Given the description of an element on the screen output the (x, y) to click on. 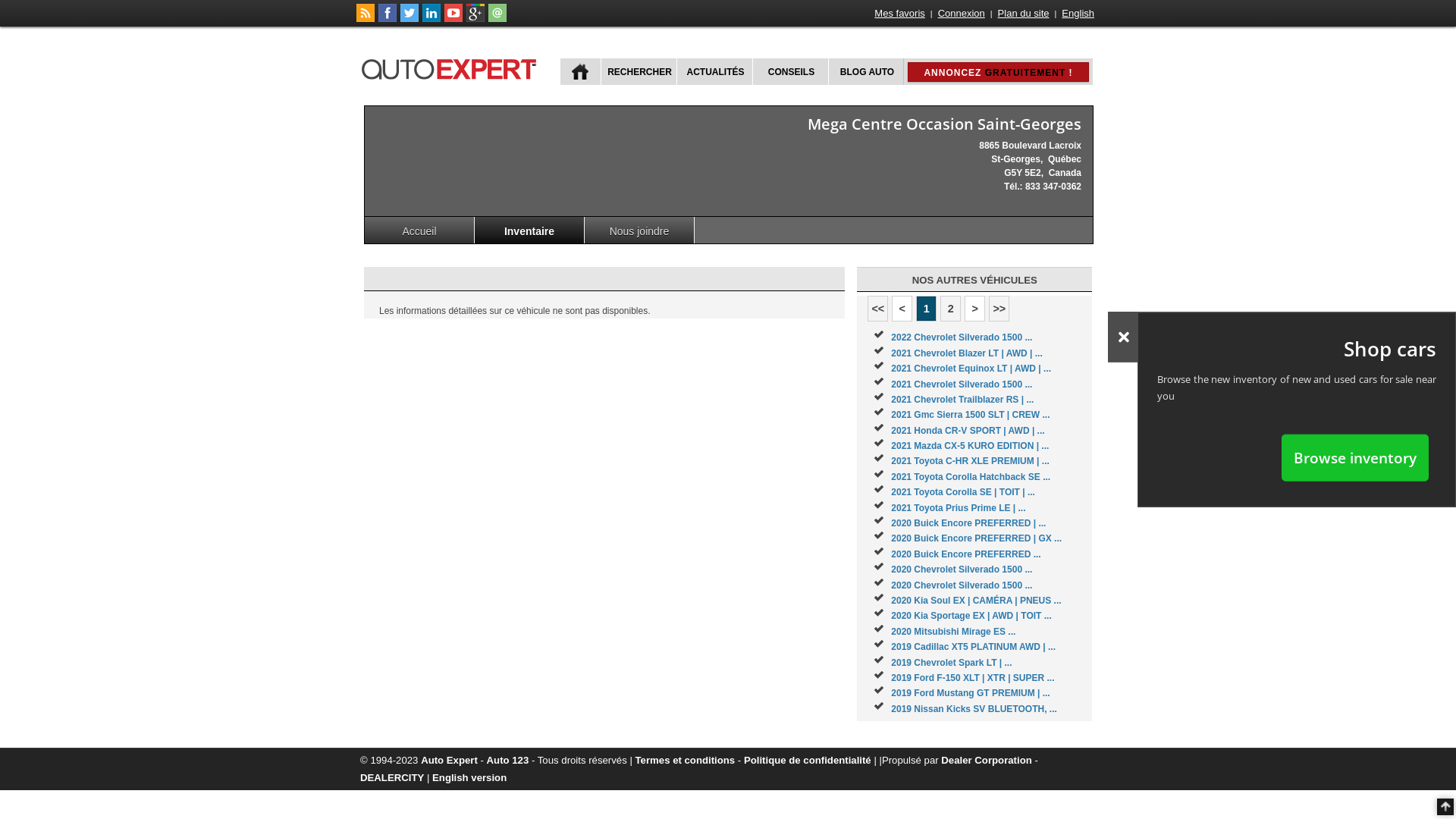
Suivez autoExpert.ca sur Facebook Element type: hover (387, 18)
2019 Cadillac XT5 PLATINUM AWD | ... Element type: text (973, 646)
2021 Toyota Corolla SE | TOIT | ... Element type: text (963, 491)
RECHERCHER Element type: text (637, 71)
2020 Chevrolet Silverado 1500 ... Element type: text (961, 569)
>> Element type: text (998, 308)
English Element type: text (1077, 13)
Suivez autoExpert.ca sur Twitter Element type: hover (409, 18)
2021 Mazda CX-5 KURO EDITION | ... Element type: text (969, 445)
2021 Toyota Prius Prime LE | ... Element type: text (958, 507)
2019 Chevrolet Spark LT | ... Element type: text (951, 662)
1 Element type: text (926, 308)
2020 Kia Sportage EX | AWD | TOIT ... Element type: text (971, 615)
Nous joindre Element type: text (639, 229)
2019 Nissan Kicks SV BLUETOOTH, ... Element type: text (974, 708)
2021 Chevrolet Silverado 1500 ... Element type: text (961, 384)
Auto 123 Element type: text (507, 759)
DEALERCITY Element type: text (391, 777)
2021 Gmc Sierra 1500 SLT | CREW ... Element type: text (970, 414)
Suivez autoExpert.ca sur Youtube Element type: hover (453, 18)
2021 Toyota Corolla Hatchback SE ... Element type: text (970, 476)
autoExpert.ca Element type: text (451, 66)
2021 Chevrolet Blazer LT | AWD | ... Element type: text (966, 353)
2 Element type: text (950, 308)
<< Element type: text (877, 308)
ACCUEIL Element type: text (580, 71)
2019 Ford F-150 XLT | XTR | SUPER ... Element type: text (972, 677)
Auto Expert Element type: text (448, 759)
2021 Honda CR-V SPORT | AWD | ... Element type: text (967, 430)
< Element type: text (901, 308)
Connexion Element type: text (961, 13)
2019 Ford Mustang GT PREMIUM | ... Element type: text (970, 692)
2021 Chevrolet Equinox LT | AWD | ... Element type: text (971, 368)
ANNONCEZ GRATUITEMENT ! Element type: text (997, 71)
Termes et conditions Element type: text (685, 759)
2021 Chevrolet Trailblazer RS | ... Element type: text (962, 399)
Dealer Corporation Element type: text (986, 759)
2020 Buick Encore PREFERRED ... Element type: text (965, 554)
Plan du site Element type: text (1023, 13)
CONSEILS Element type: text (789, 71)
Inventaire Element type: text (529, 229)
Browse inventory Element type: text (1354, 457)
Suivez autoExpert.ca sur Google Plus Element type: hover (475, 18)
2020 Buick Encore PREFERRED | GX ... Element type: text (976, 538)
2020 Chevrolet Silverado 1500 ... Element type: text (961, 585)
2020 Buick Encore PREFERRED | ... Element type: text (968, 522)
Accueil Element type: text (419, 229)
2020 Mitsubishi Mirage ES ... Element type: text (953, 631)
> Element type: text (974, 308)
Joindre autoExpert.ca Element type: hover (497, 18)
Mes favoris Element type: text (898, 13)
BLOG AUTO Element type: text (865, 71)
English version Element type: text (469, 777)
2021 Toyota C-HR XLE PREMIUM | ... Element type: text (970, 460)
Suivez Publications Le Guide Inc. sur LinkedIn Element type: hover (431, 18)
2022 Chevrolet Silverado 1500 ... Element type: text (961, 337)
